Given the description of an element on the screen output the (x, y) to click on. 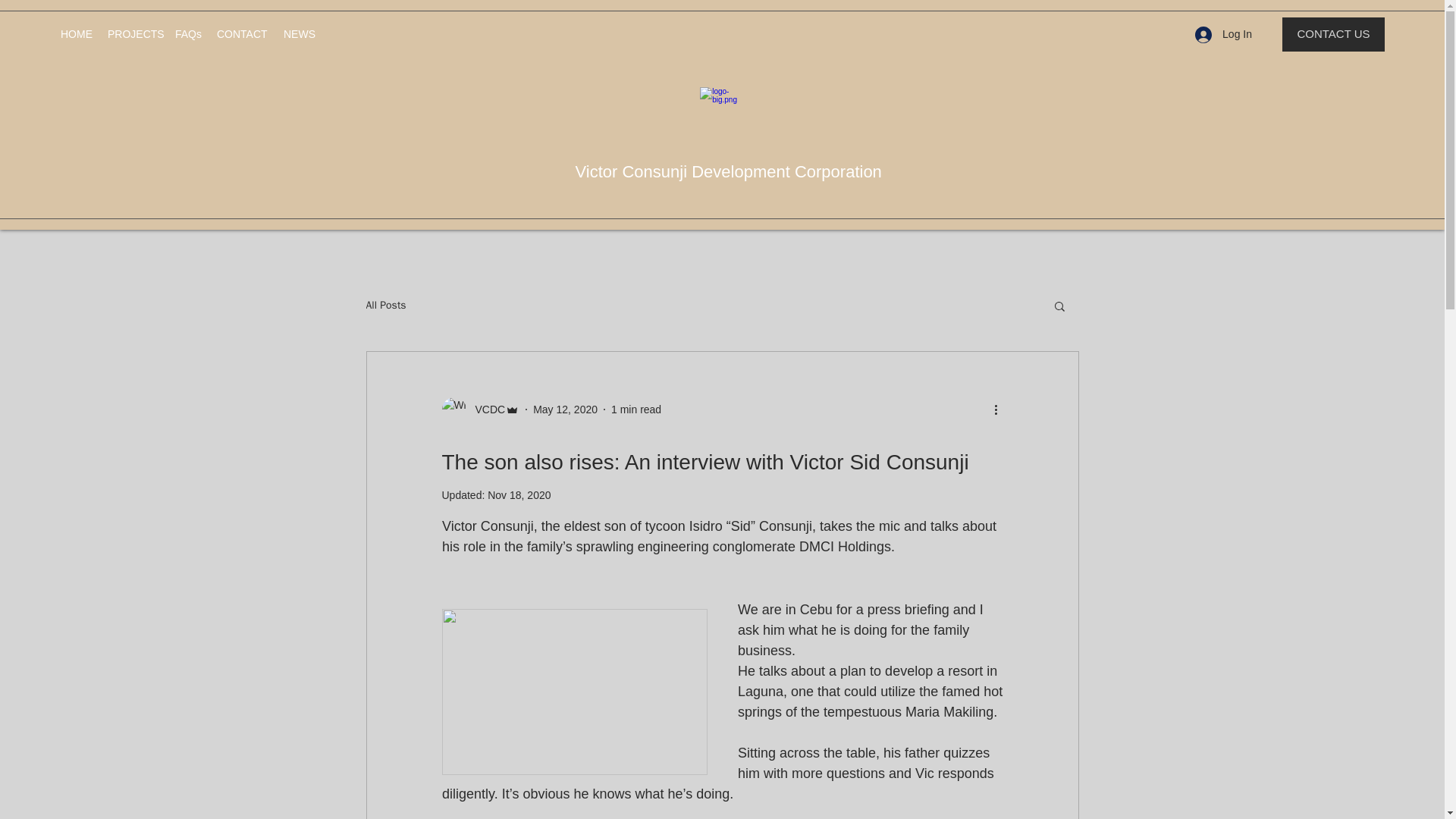
Log In (1223, 34)
All Posts (385, 305)
Nov 18, 2020 (518, 494)
HOME (76, 33)
CONTACT (242, 33)
VCDC (480, 409)
PROJECTS (133, 33)
NEWS (298, 33)
1 min read (636, 409)
CONTACT US (1333, 34)
